Given the description of an element on the screen output the (x, y) to click on. 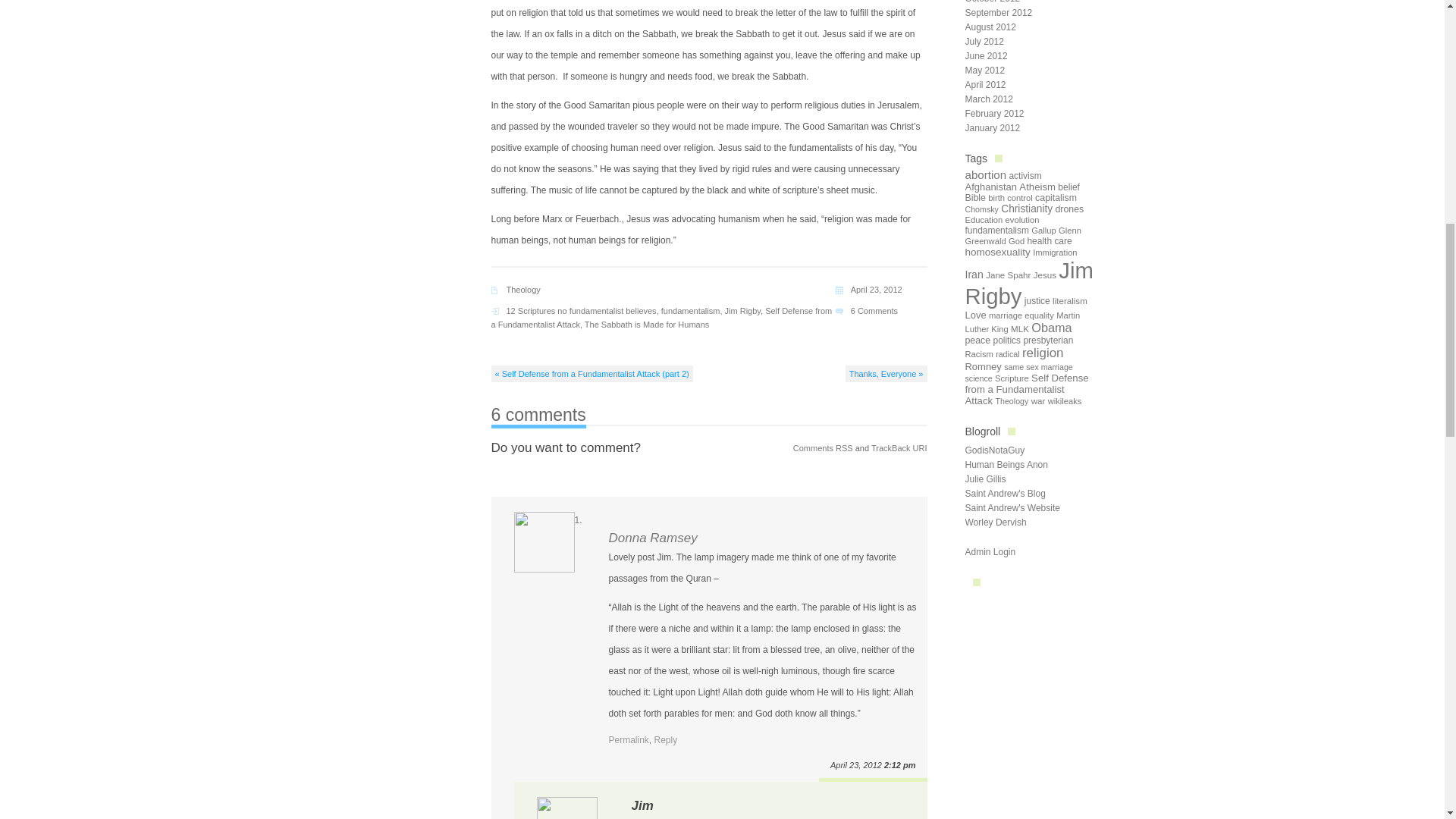
Comment (566, 447)
Permalink (627, 739)
6 Comments (874, 310)
fundamentalism (690, 310)
Comments RSS (823, 447)
2:12 pm (899, 764)
12 Scriptures no fundamentalist believes (581, 310)
The Sabbath is Made for Humans (647, 324)
Self Defense from a Fundamentalist Attack (662, 317)
Theology (523, 289)
